Given the description of an element on the screen output the (x, y) to click on. 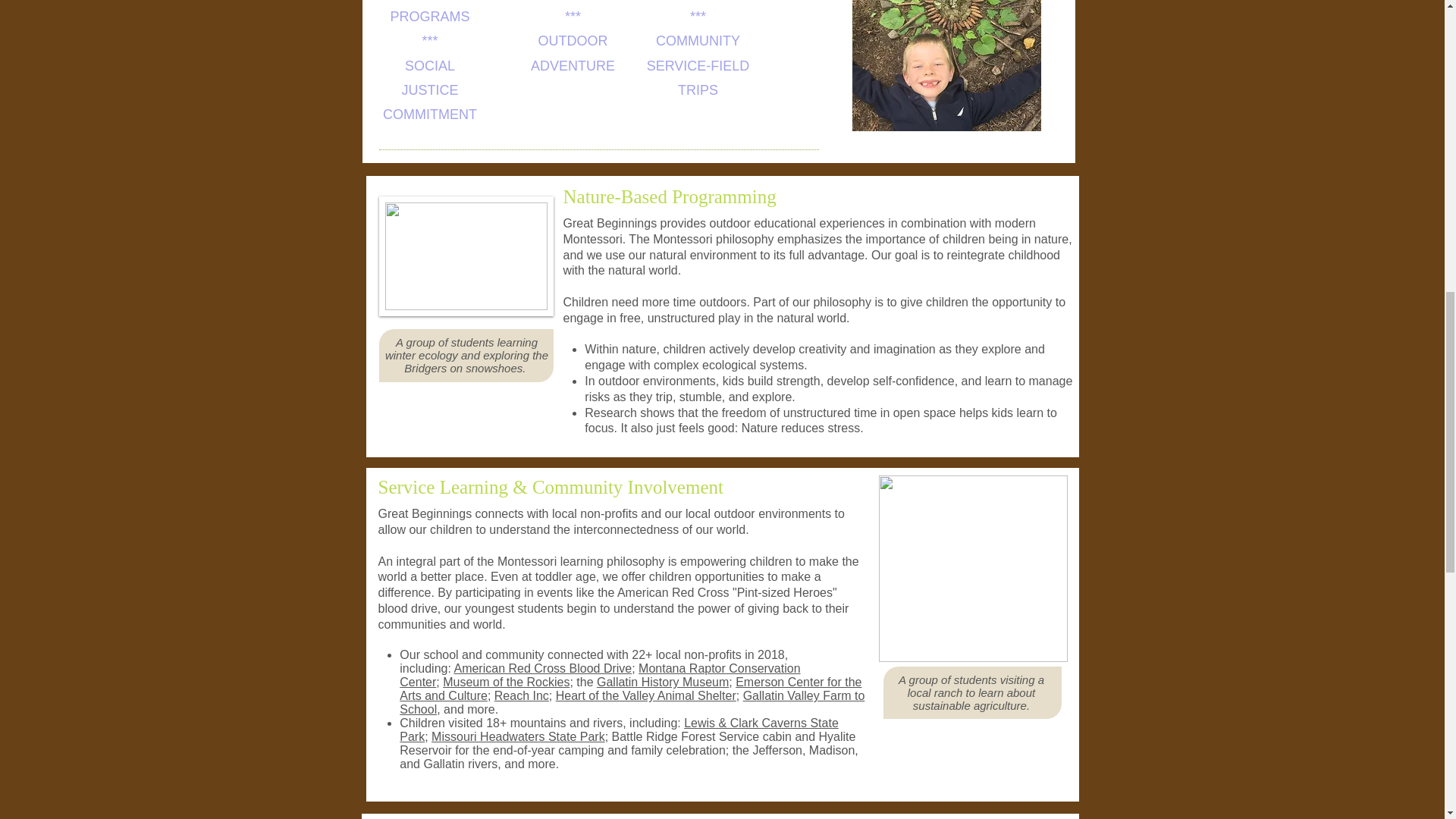
Heart of the Valley Animal Shelter (646, 695)
Emerson Center for the Arts and Culture (629, 688)
Missouri Headwaters State Park (517, 736)
Gallatin History Museum (662, 681)
American Red Cross Blood Drive (541, 667)
Gallatin Valley Farm to School (631, 702)
Reach Inc (521, 695)
Museum of the Rockies (505, 681)
Montana Raptor Conservation Center (598, 674)
